Given the description of an element on the screen output the (x, y) to click on. 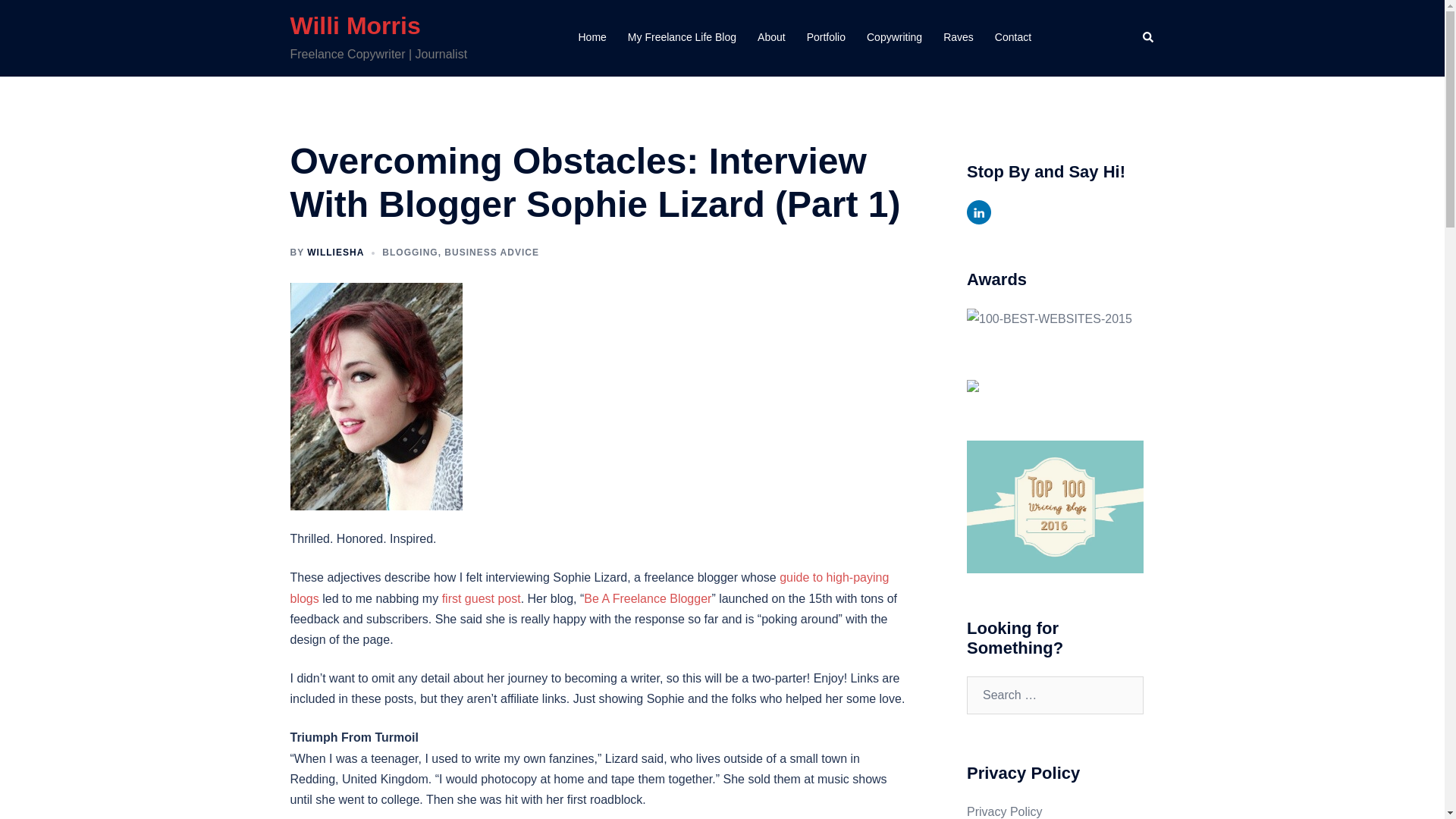
Search (1147, 37)
BLOGGING (409, 252)
Home (591, 37)
Be A Freelance Blogger (647, 598)
My Freelance Life Blog (681, 37)
BUSINESS ADVICE (491, 252)
Raves (958, 37)
WILLIESHA (335, 252)
Copywriting (893, 37)
first guest post (481, 598)
